Given the description of an element on the screen output the (x, y) to click on. 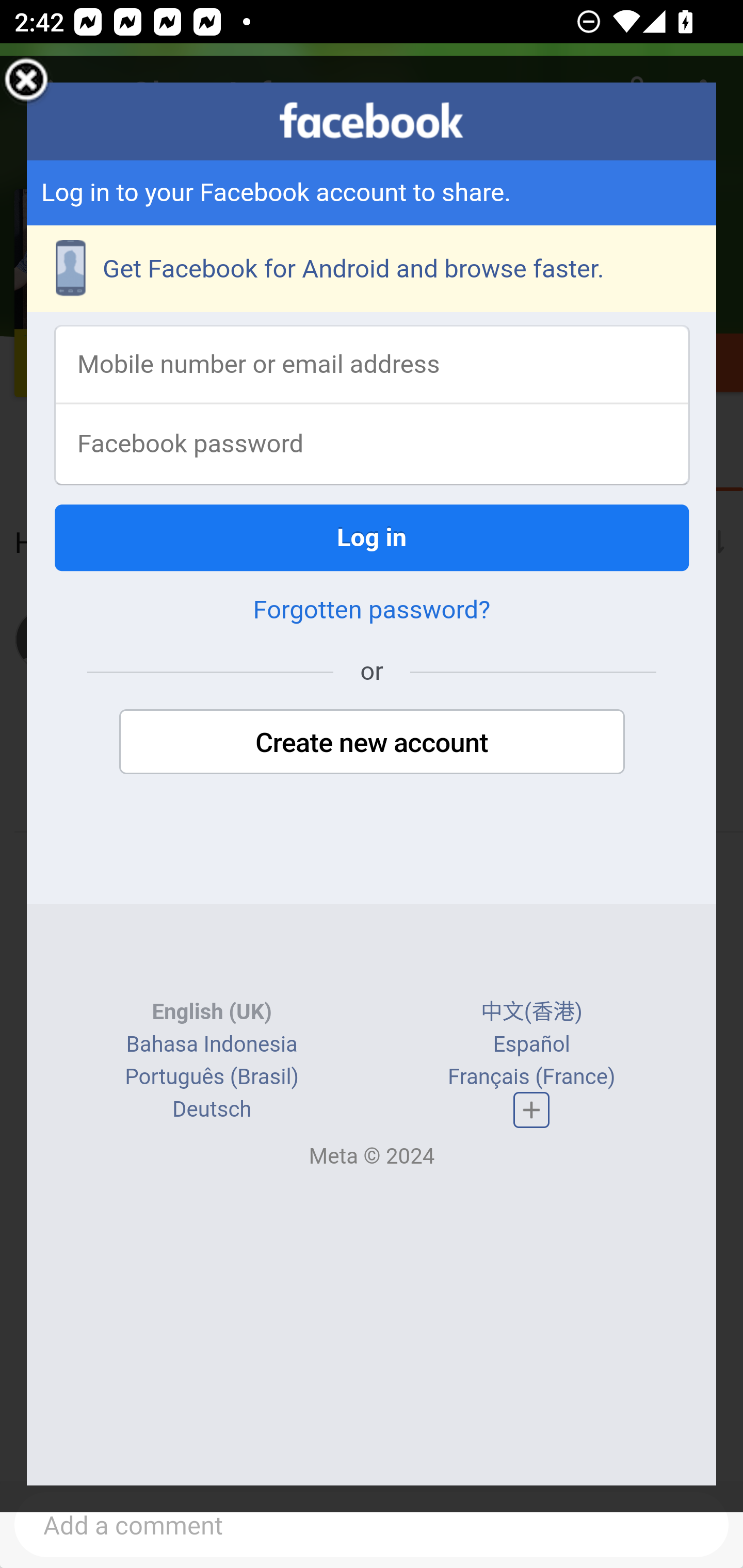
facebook (372, 121)
Get Facebook for Android and browse faster. (372, 270)
Log in (372, 538)
Forgotten password? (371, 611)
Create new account (371, 743)
中文(香港) (531, 1013)
Bahasa Indonesia (210, 1044)
Español (530, 1044)
Português (Brasil) (211, 1077)
Français (France) (530, 1077)
Complete list of languages (531, 1110)
Deutsch (211, 1110)
